Given the description of an element on the screen output the (x, y) to click on. 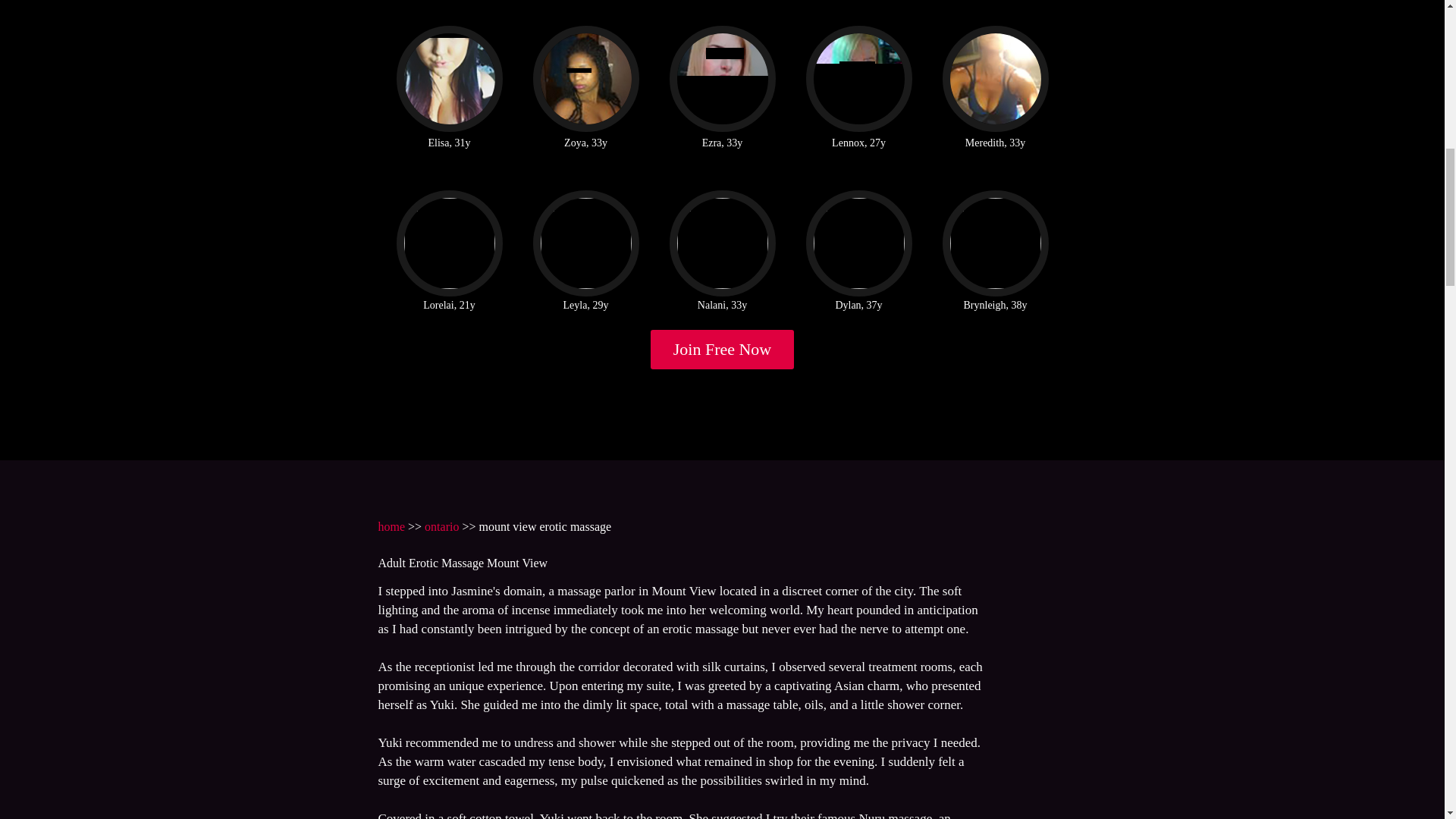
Join (722, 349)
Join Free Now (722, 349)
home (390, 526)
ontario (441, 526)
